Given the description of an element on the screen output the (x, y) to click on. 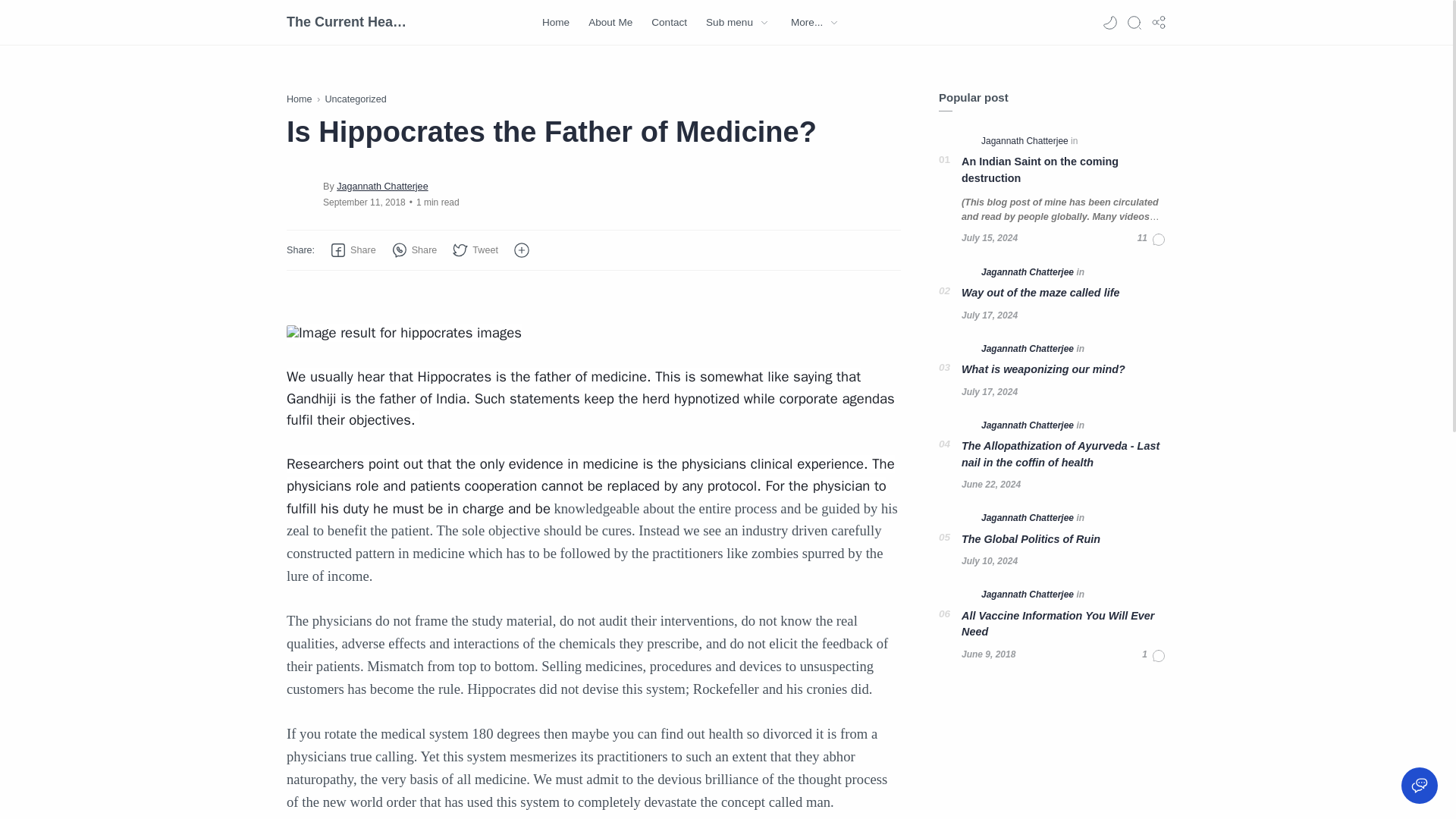
Share to Twitter (474, 250)
Published: June 9, 2018 (987, 654)
Share to Facebook (352, 250)
The Current Health Scenario (346, 22)
Share to Whatsapp (414, 250)
Last updated: July 15, 2024 (988, 237)
Published: July 17, 2024 (988, 391)
About Me (609, 22)
Home (299, 99)
Published: July 10, 2024 (988, 560)
Published: September 11, 2018 (364, 201)
Last updated: June 22, 2024 (990, 484)
Published: July 17, 2024 (988, 314)
